Given the description of an element on the screen output the (x, y) to click on. 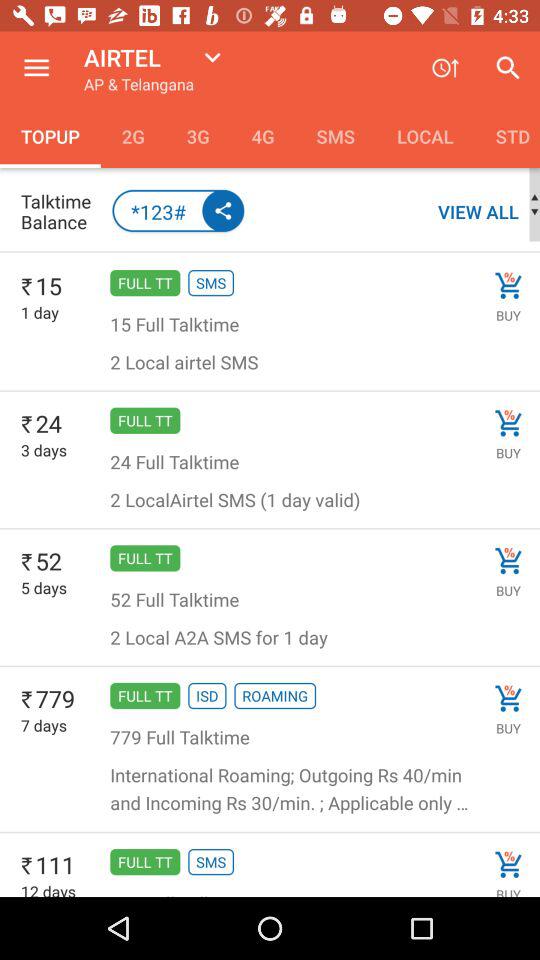
turn on the icon above the topup icon (36, 68)
